Given the description of an element on the screen output the (x, y) to click on. 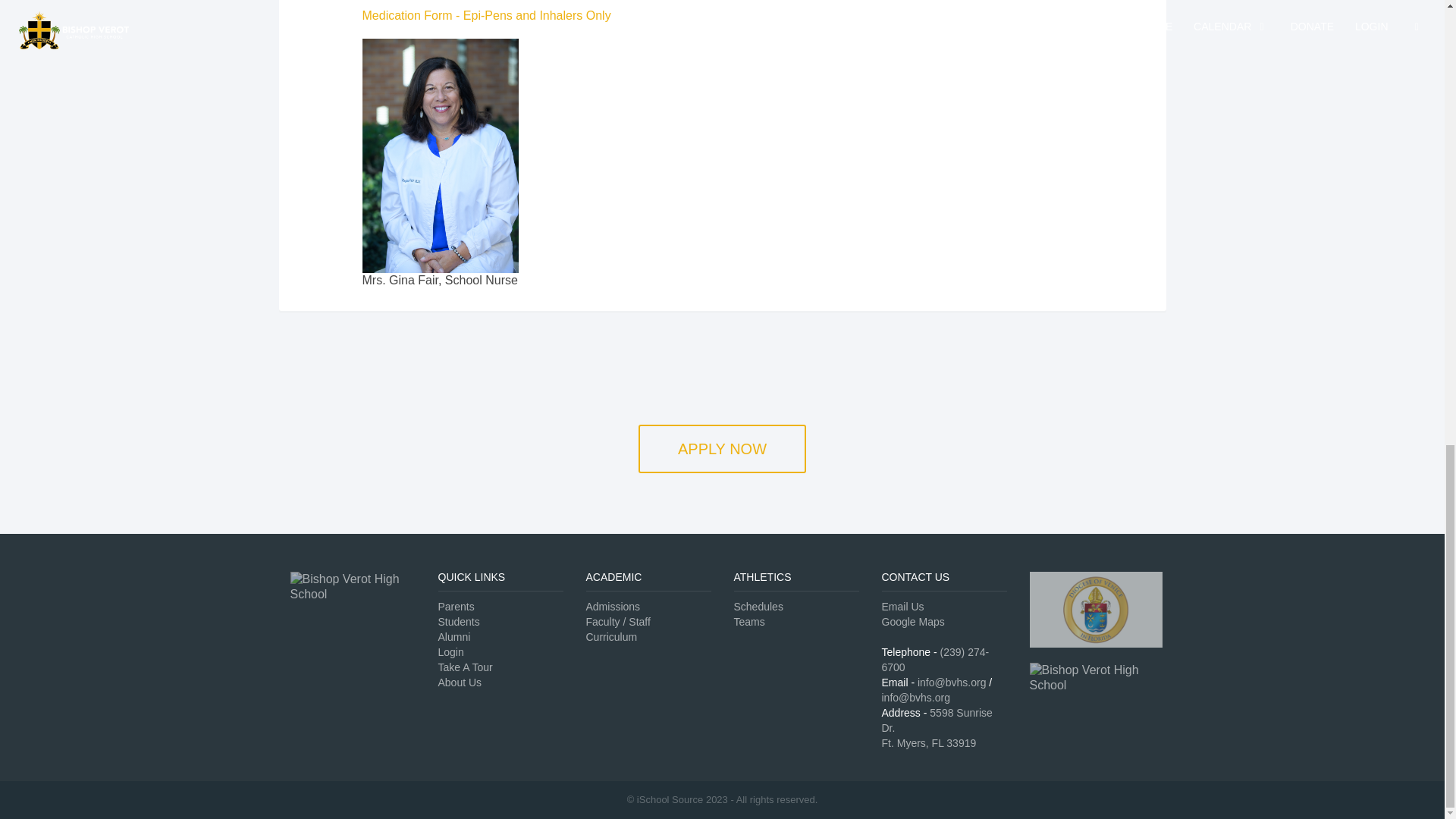
Admissions (612, 606)
Curriculum (611, 636)
Schedules (758, 606)
Students (459, 621)
About Us (459, 682)
APPLY NOW (722, 449)
Parents (456, 606)
Take A Tour (465, 666)
Alumni (454, 636)
Login (451, 652)
Teams (749, 621)
Fair.JPG (406, 66)
Medication Form - Epi-Pens and Inhalers Only  (488, 15)
Email Us (901, 606)
